Given the description of an element on the screen output the (x, y) to click on. 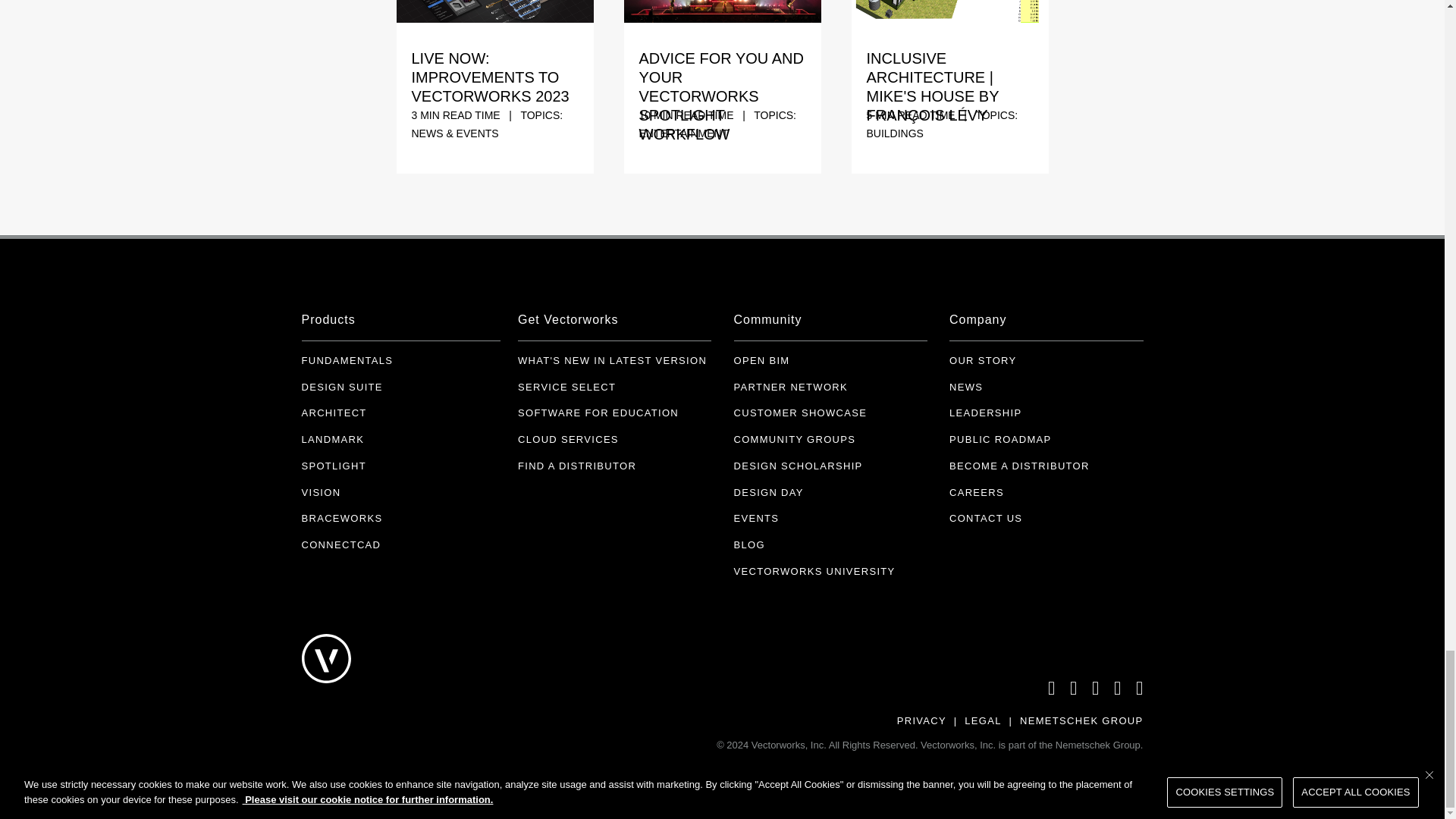
SPOTLIGHT (333, 466)
VISION (320, 492)
ARCHITECT (333, 413)
LANDMARK (333, 439)
DESIGN SUITE (341, 387)
FUNDAMENTALS (347, 361)
